Given the description of an element on the screen output the (x, y) to click on. 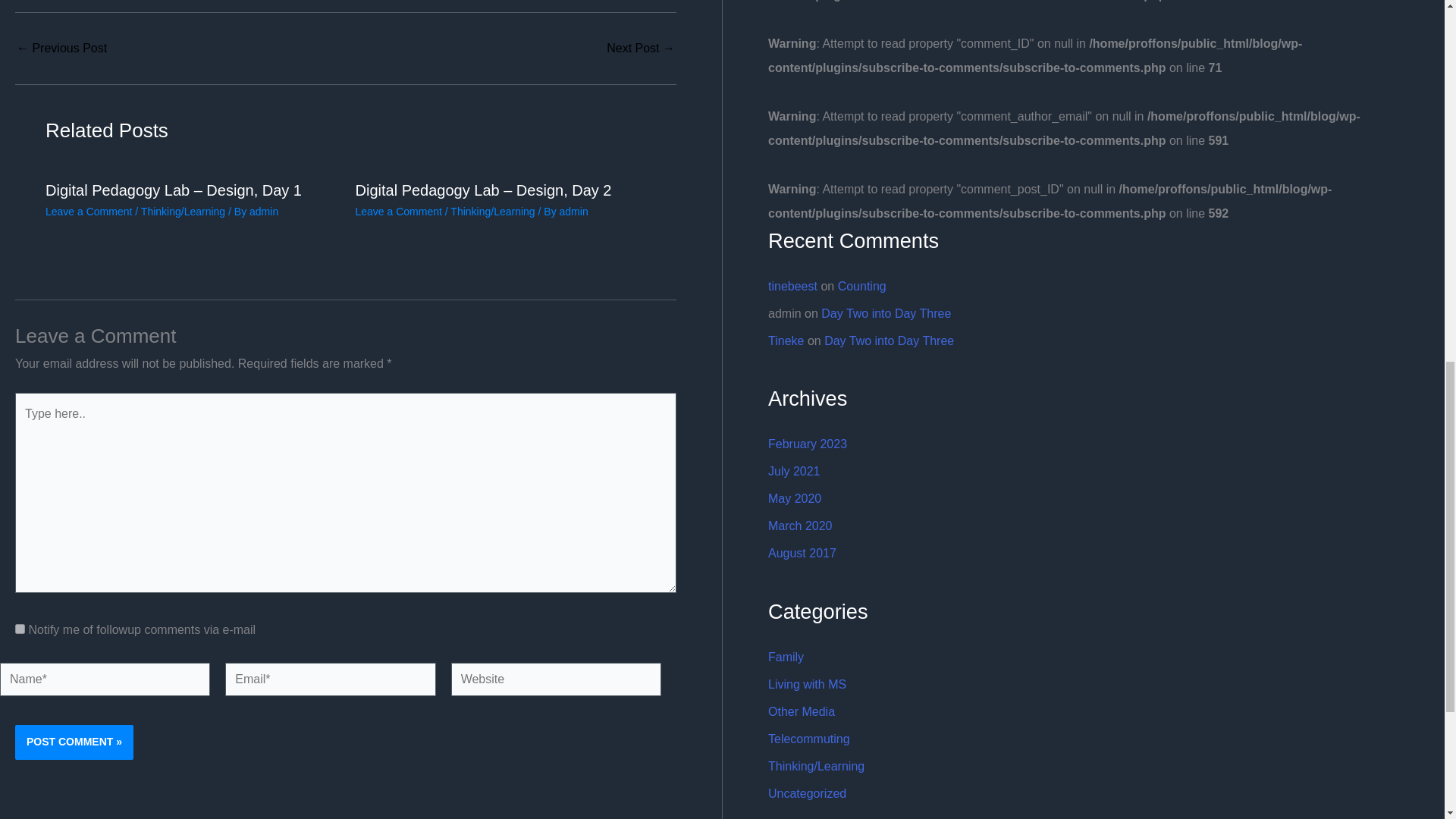
Family (785, 656)
Leave a Comment (398, 211)
View all posts by admin (573, 211)
Tineke (785, 340)
March 2020 (800, 525)
...And We're Back. (641, 48)
admin (263, 211)
admin (573, 211)
Day Two into Day Three (885, 313)
Other Media (801, 711)
